Given the description of an element on the screen output the (x, y) to click on. 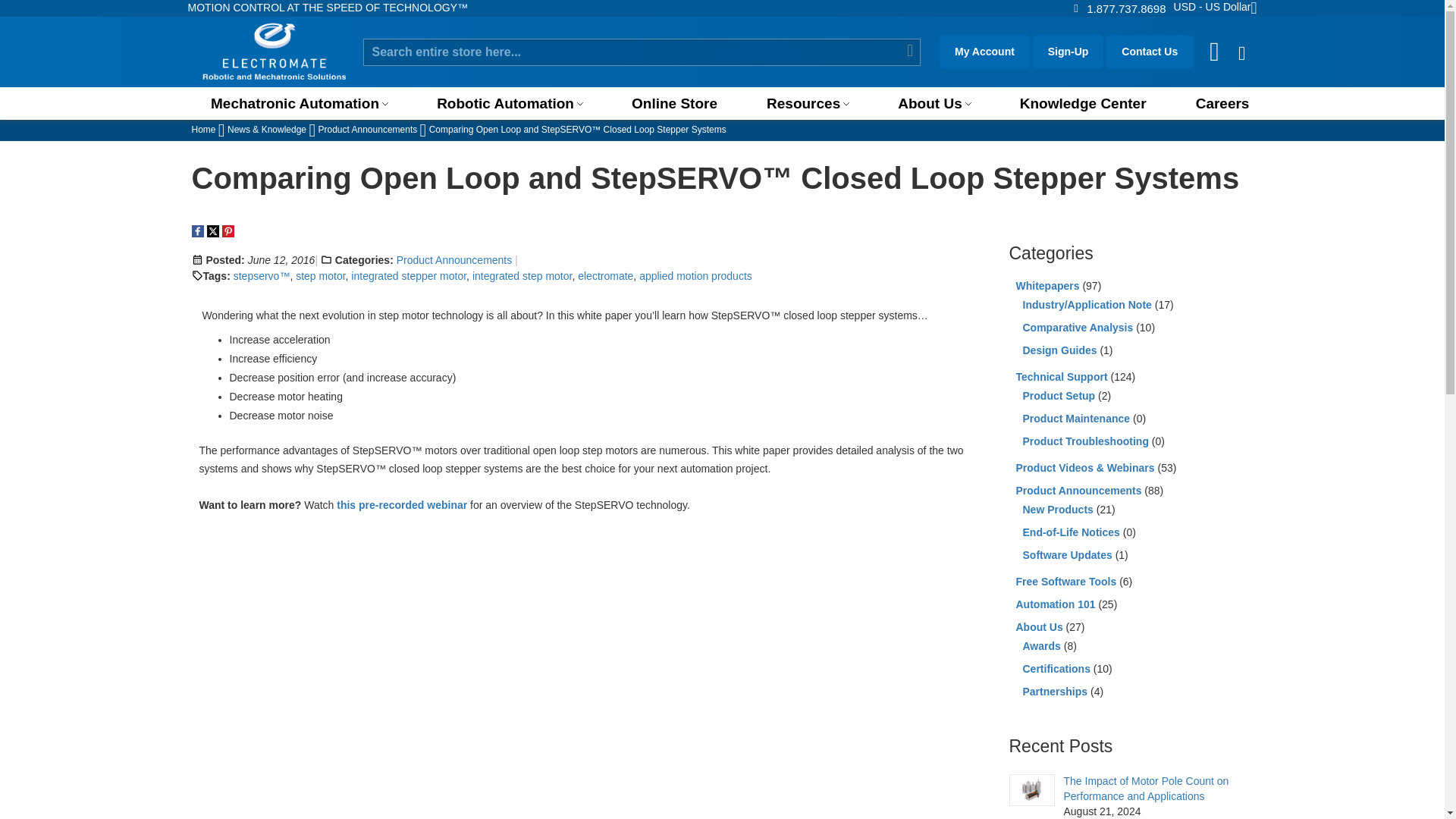
Pinterest (226, 231)
Contact Us (1126, 7)
Product Announcements (454, 259)
1.877.737.8698 (1126, 7)
applied motion products (695, 275)
Whitepapers (1048, 285)
step motor (320, 275)
Share on Facebook (196, 231)
integrated stepper motor (407, 275)
Share on X (212, 231)
